Given the description of an element on the screen output the (x, y) to click on. 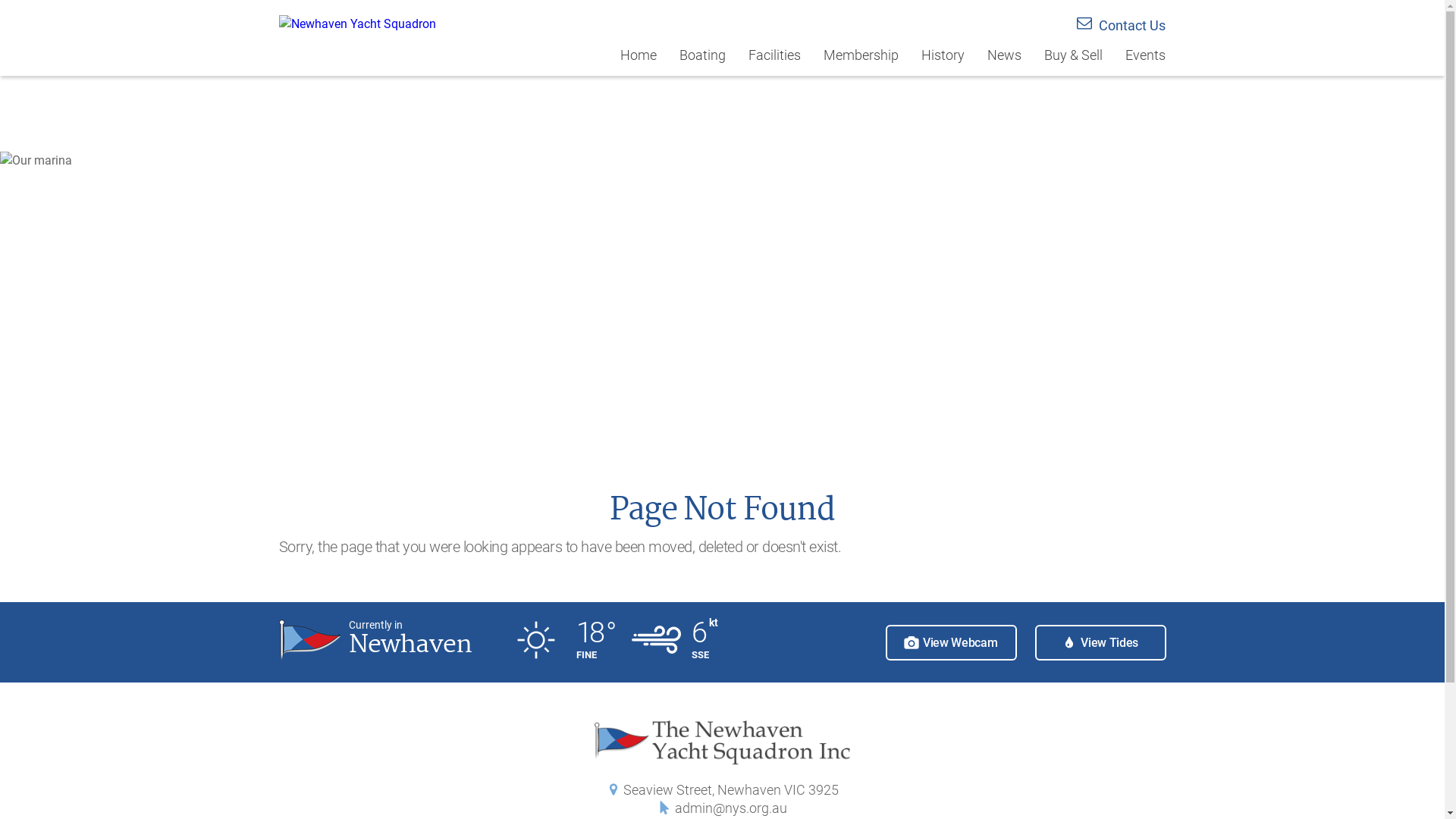
News Element type: text (1004, 60)
View Tides Element type: text (1099, 642)
Membership Element type: text (860, 60)
Home Element type: text (638, 60)
Boating Element type: text (702, 60)
View Webcam Element type: text (950, 642)
History Element type: text (942, 60)
Facilities Element type: text (774, 60)
Events Element type: text (1140, 60)
Contact Us Element type: text (1120, 25)
Buy & Sell Element type: text (1073, 60)
admin@nys.org.au Element type: text (730, 807)
